Given the description of an element on the screen output the (x, y) to click on. 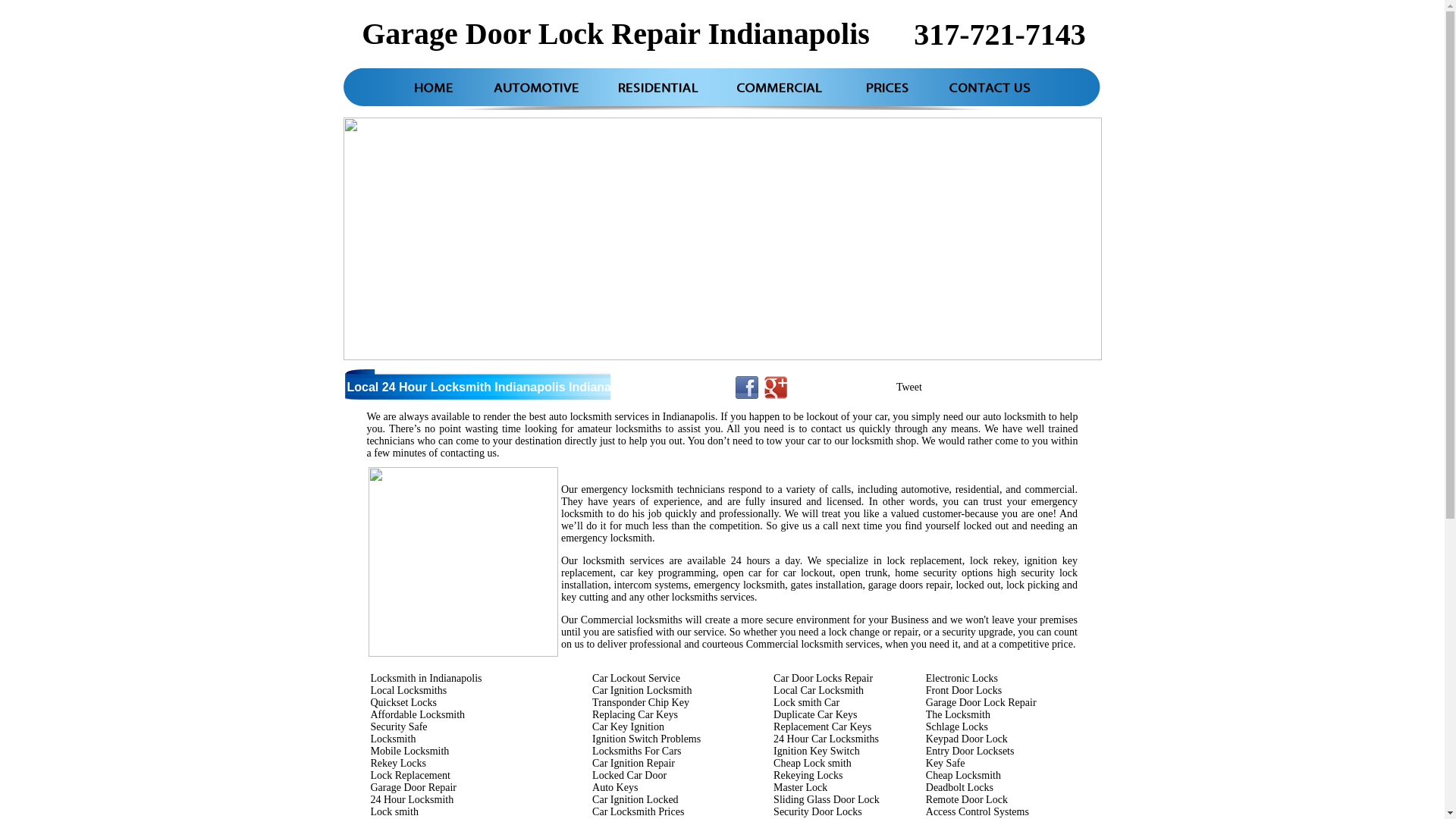
Tweet Element type: text (909, 386)
317-721-7143 Element type: text (999, 34)
